Given the description of an element on the screen output the (x, y) to click on. 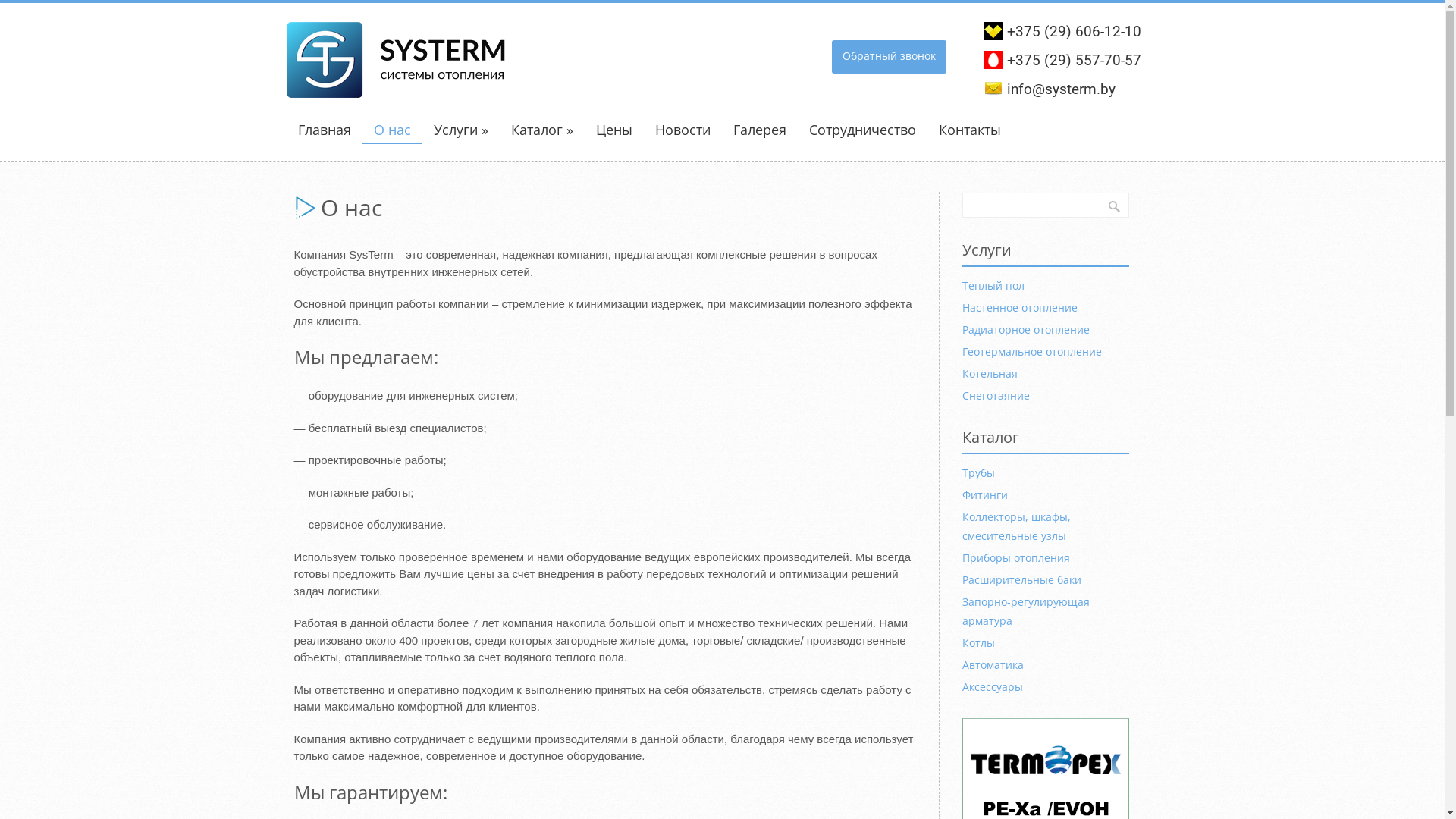
Systerm.by Element type: hover (400, 86)
